Given the description of an element on the screen output the (x, y) to click on. 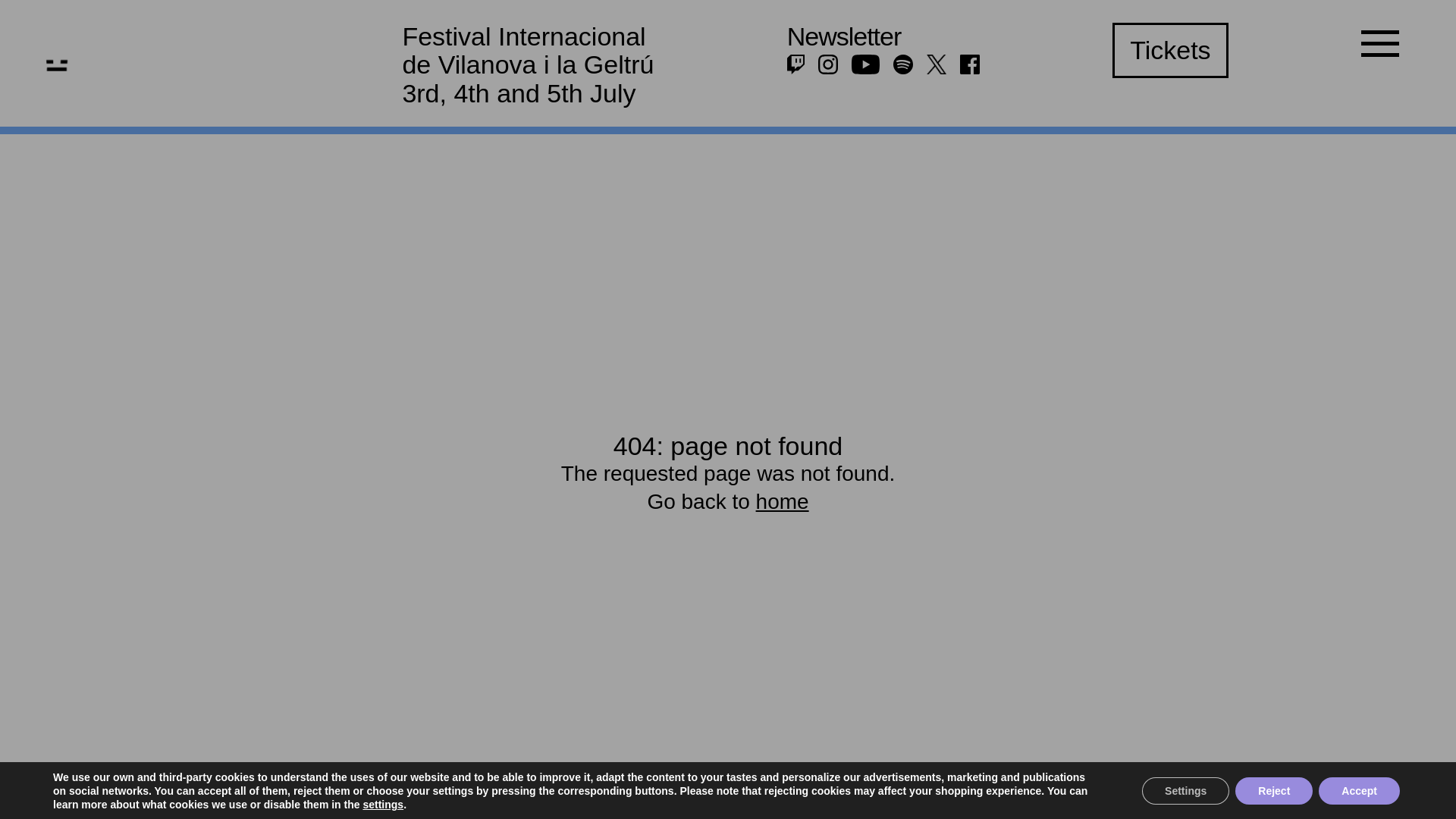
Tickets (1169, 49)
Newsletter (844, 36)
home (782, 501)
